Given the description of an element on the screen output the (x, y) to click on. 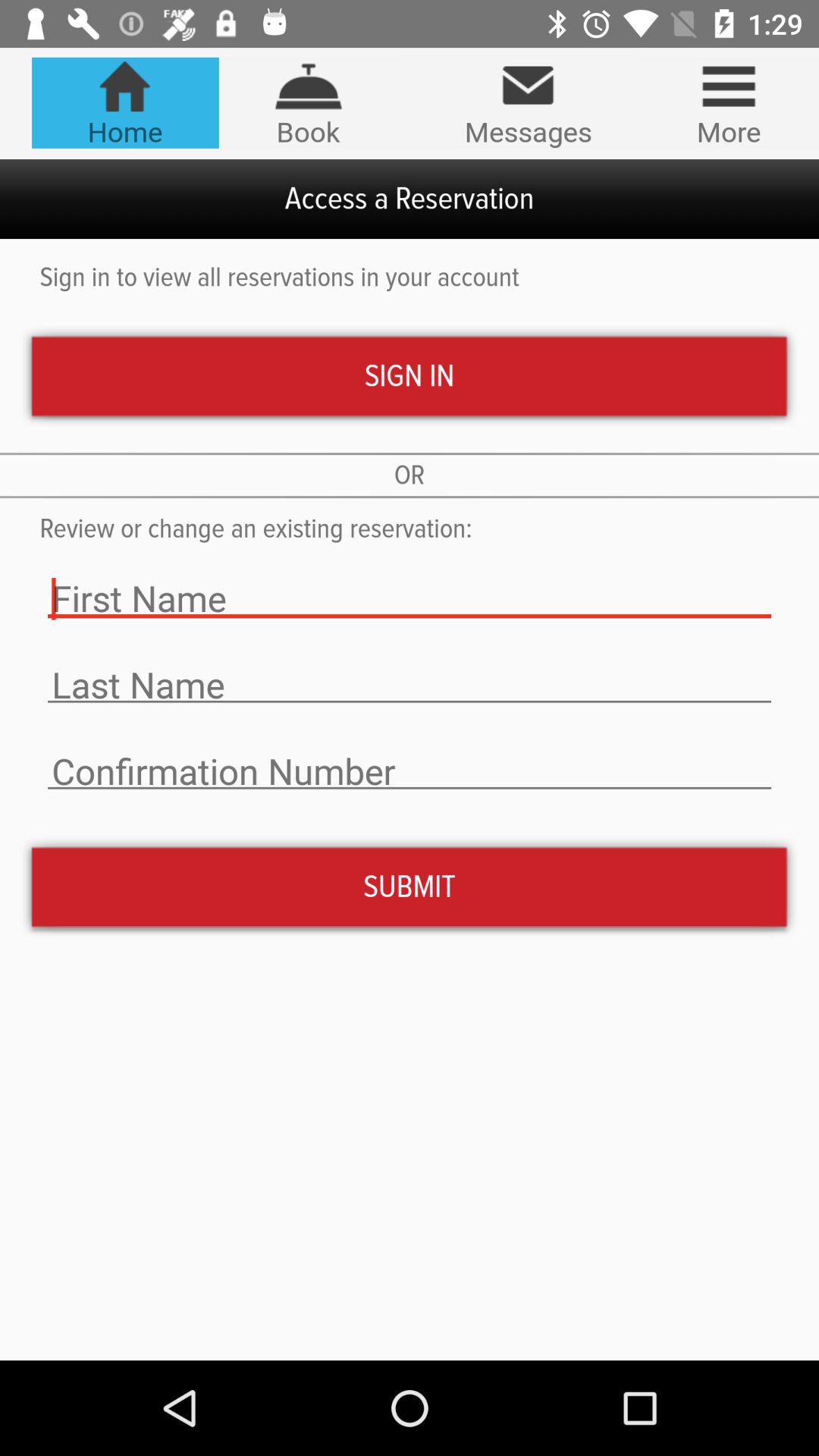
open the item to the left of the book icon (124, 102)
